Given the description of an element on the screen output the (x, y) to click on. 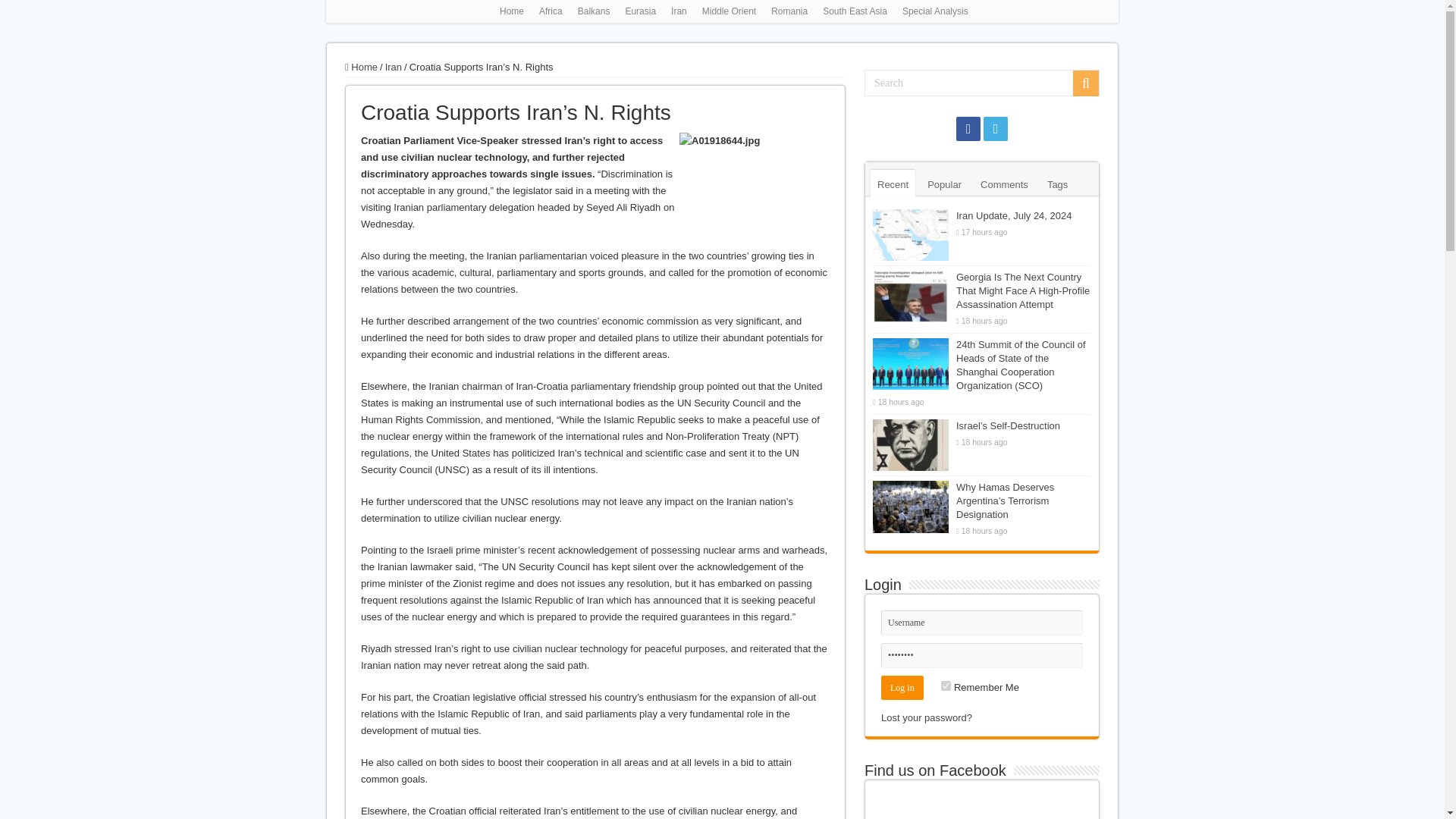
Search (981, 82)
Africa (550, 11)
Iran (678, 11)
Facebook (967, 128)
Recent (892, 183)
Home (511, 11)
Home (361, 66)
Password (981, 655)
Middle Orient (728, 11)
forever (945, 685)
Romania (788, 11)
Balkans (593, 11)
Search (1086, 83)
Eurasia (640, 11)
Twitter (995, 128)
